Given the description of an element on the screen output the (x, y) to click on. 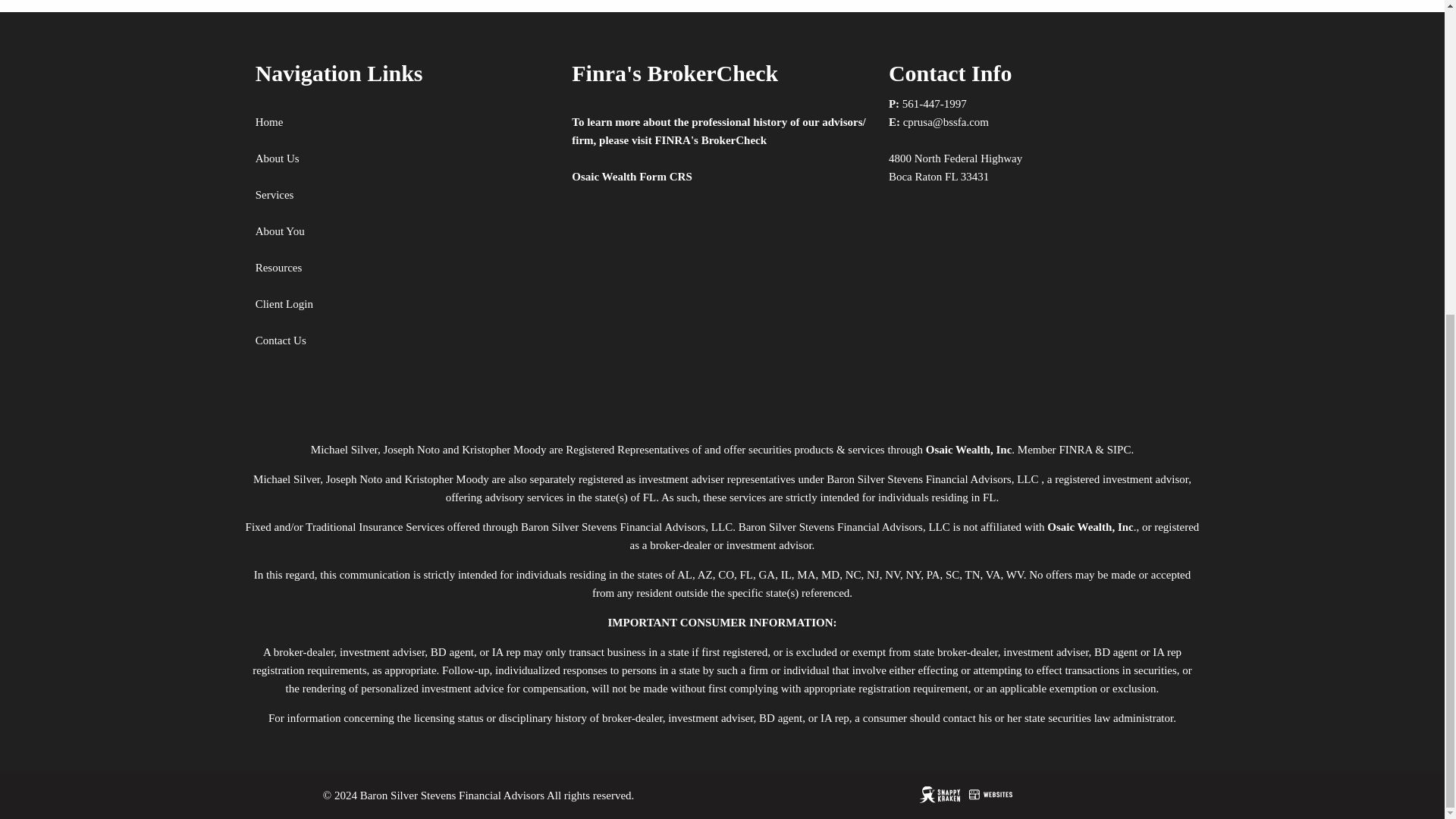
Resources (279, 267)
Services (275, 194)
Home (269, 121)
FINRA (1075, 449)
About You (280, 231)
Client Login (284, 304)
FINRA's BrokerCheck (710, 140)
Contact Us (280, 340)
Osaic Wealth Form CRS (631, 176)
SIPC (1118, 449)
